Given the description of an element on the screen output the (x, y) to click on. 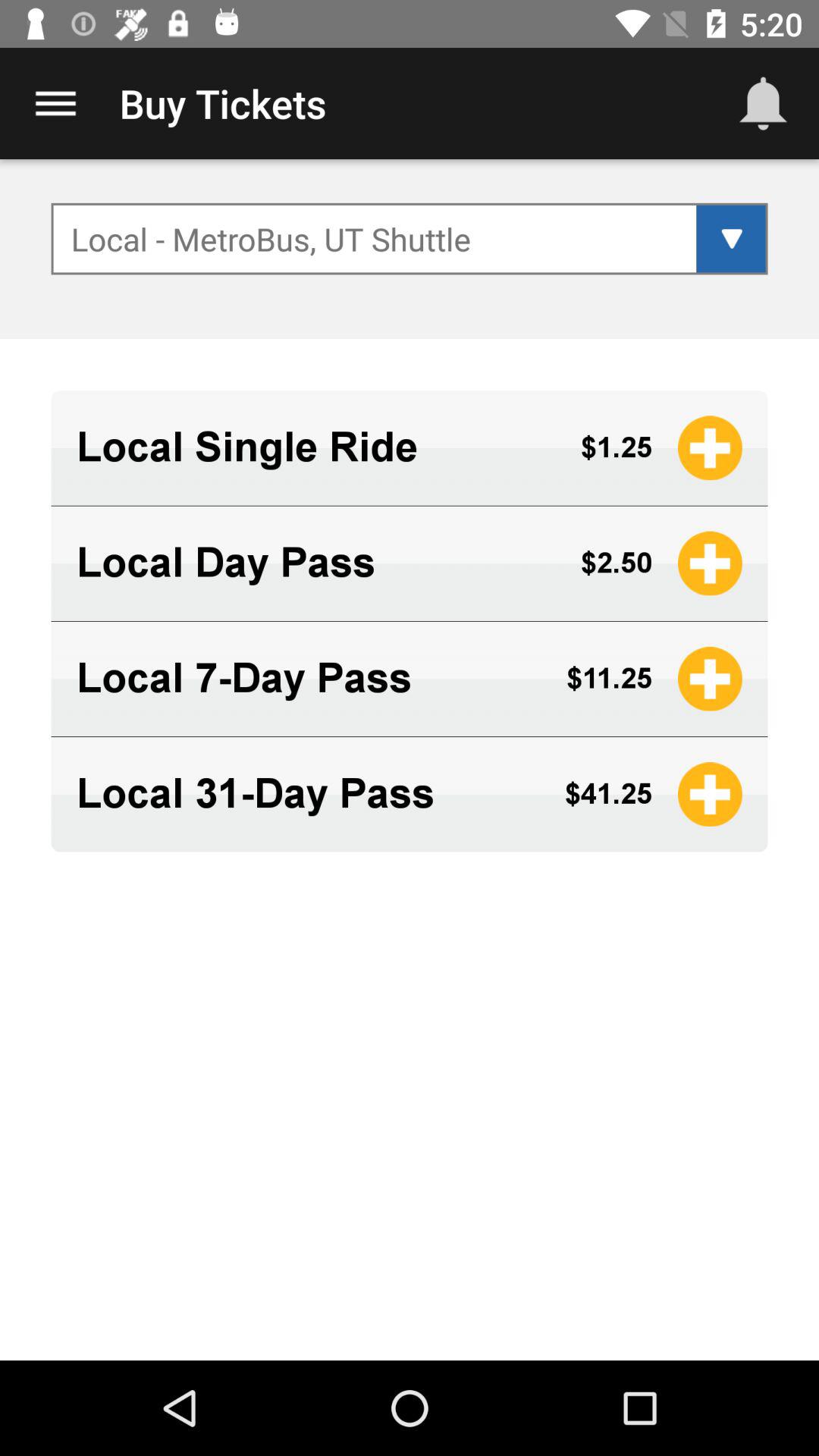
flip to local single ride (315, 447)
